Given the description of an element on the screen output the (x, y) to click on. 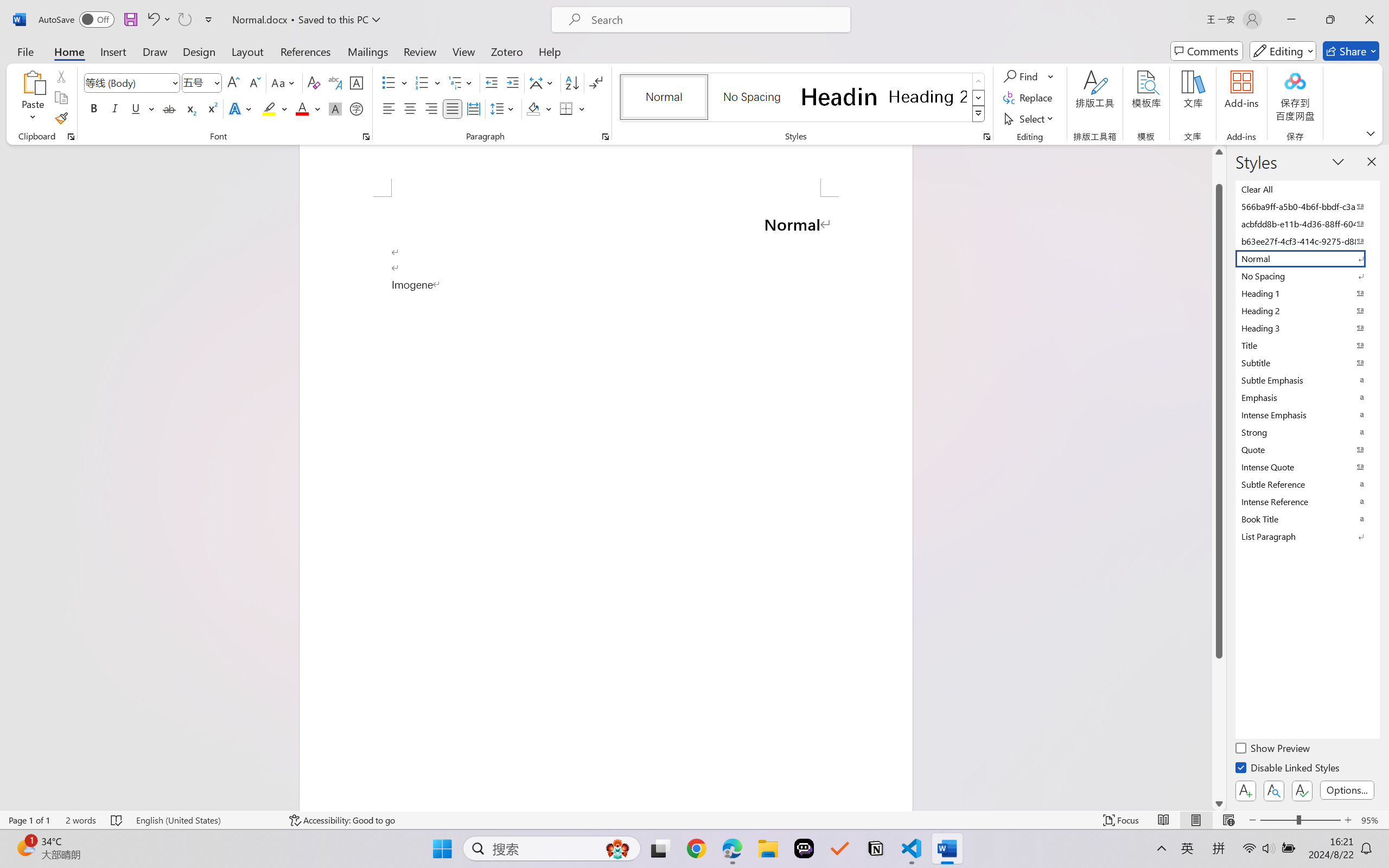
Can't Repeat (184, 19)
Title (1306, 345)
Asian Layout (542, 82)
Disable Linked Styles (1287, 769)
Subtle Reference (1306, 484)
acbfdd8b-e11b-4d36-88ff-6049b138f862 (1306, 223)
Heading 2 (927, 96)
Copy (60, 97)
Show Preview (1273, 749)
Line and Paragraph Spacing (503, 108)
Class: MsoCommandBar (694, 819)
